Given the description of an element on the screen output the (x, y) to click on. 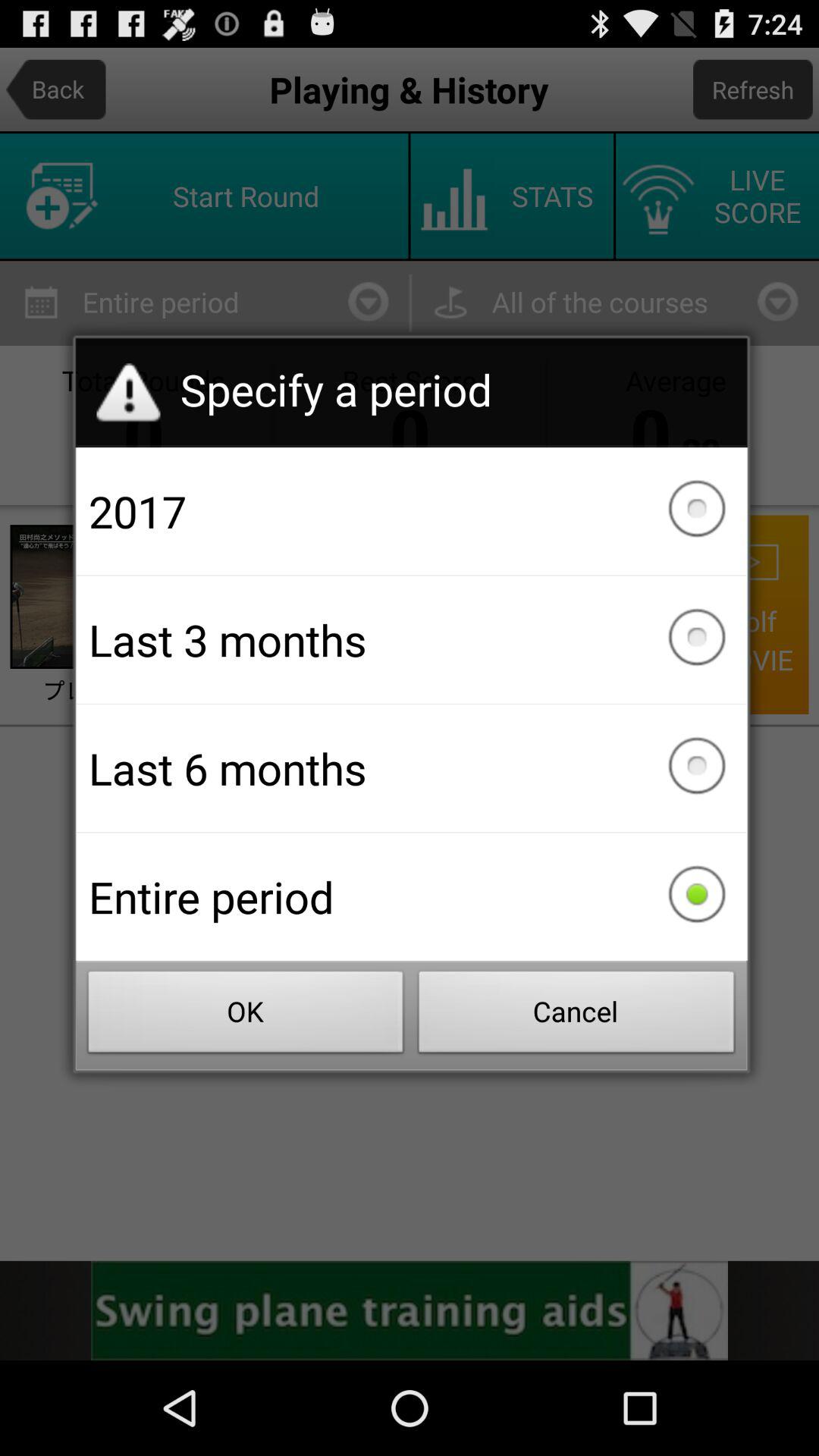
turn off the button to the right of the ok (576, 1016)
